Given the description of an element on the screen output the (x, y) to click on. 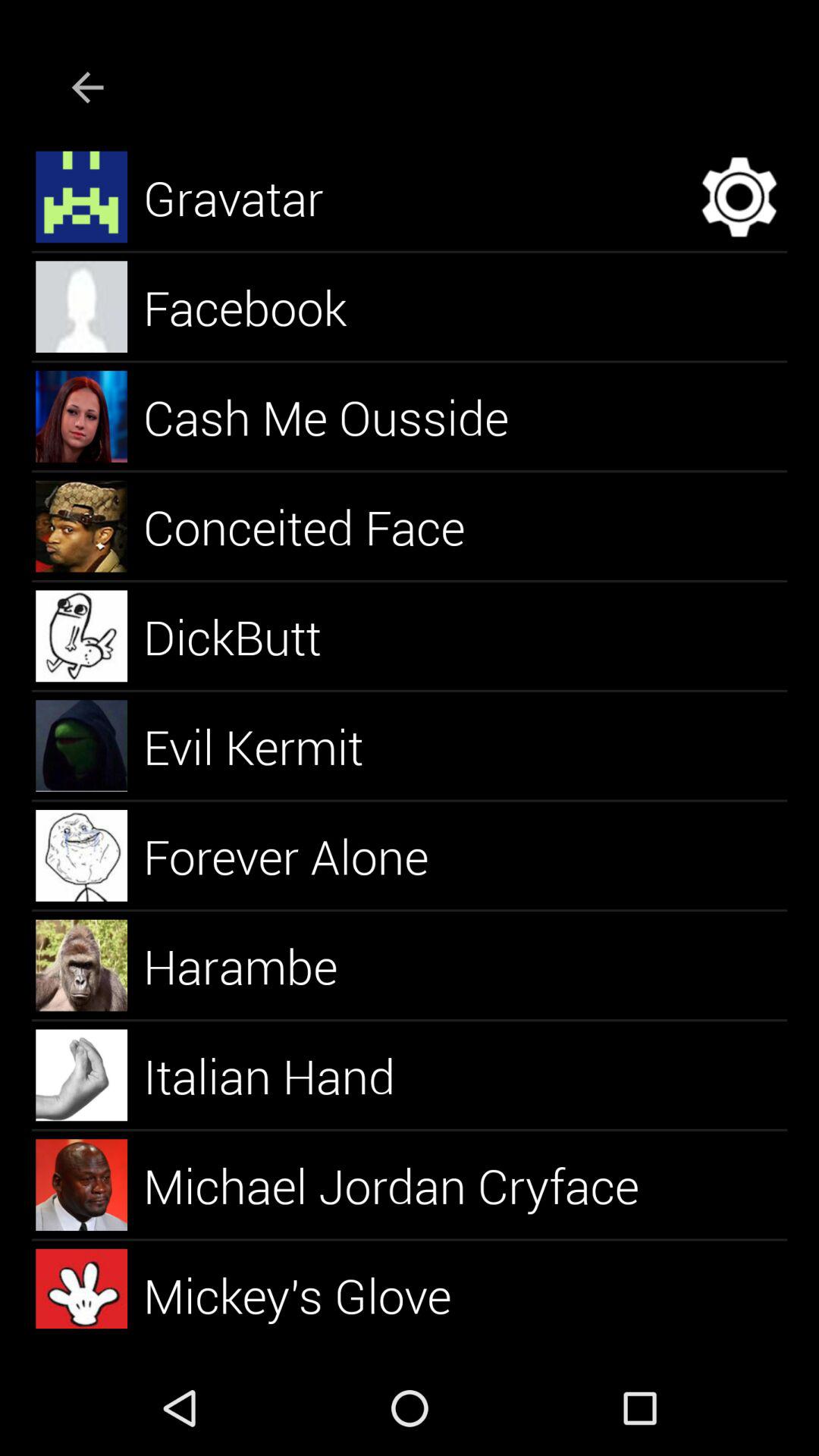
flip until the dickbutt icon (250, 635)
